Given the description of an element on the screen output the (x, y) to click on. 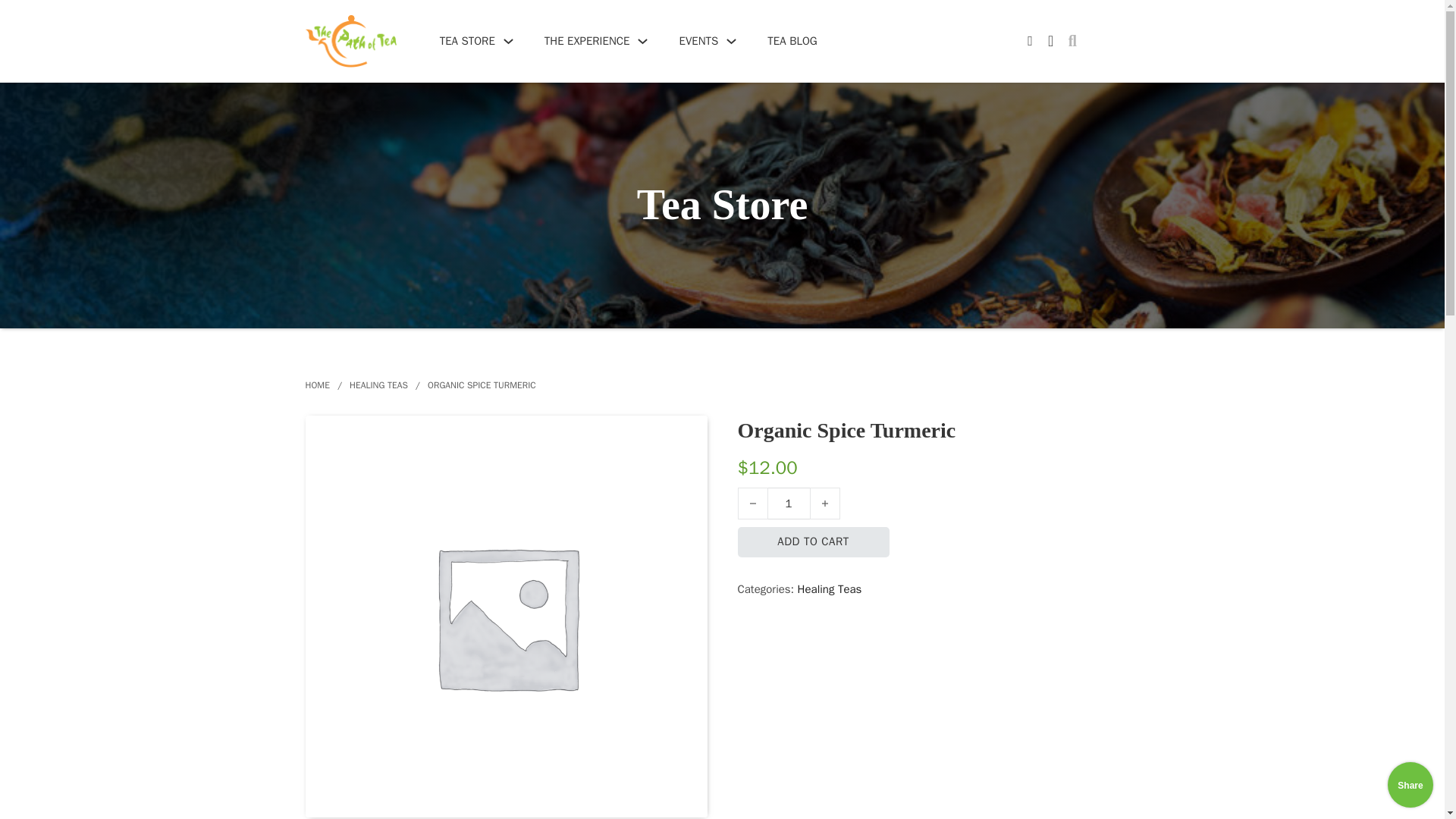
1 (788, 503)
EVENTS (697, 41)
THE EXPERIENCE (587, 41)
TEA STORE (467, 41)
Share this article (1409, 784)
TEA BLOG (791, 41)
